Given the description of an element on the screen output the (x, y) to click on. 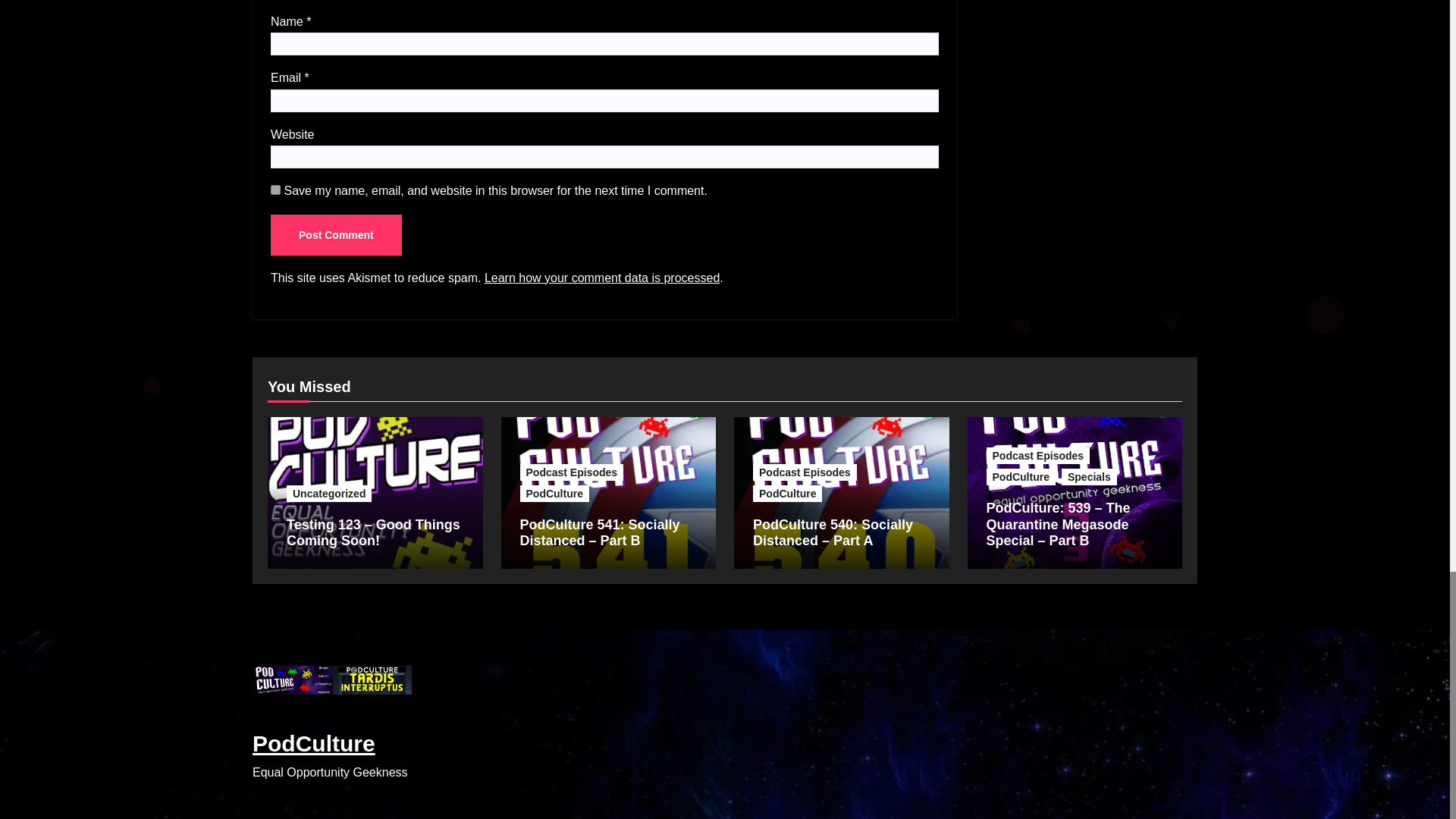
Post Comment (335, 234)
yes (275, 189)
